Given the description of an element on the screen output the (x, y) to click on. 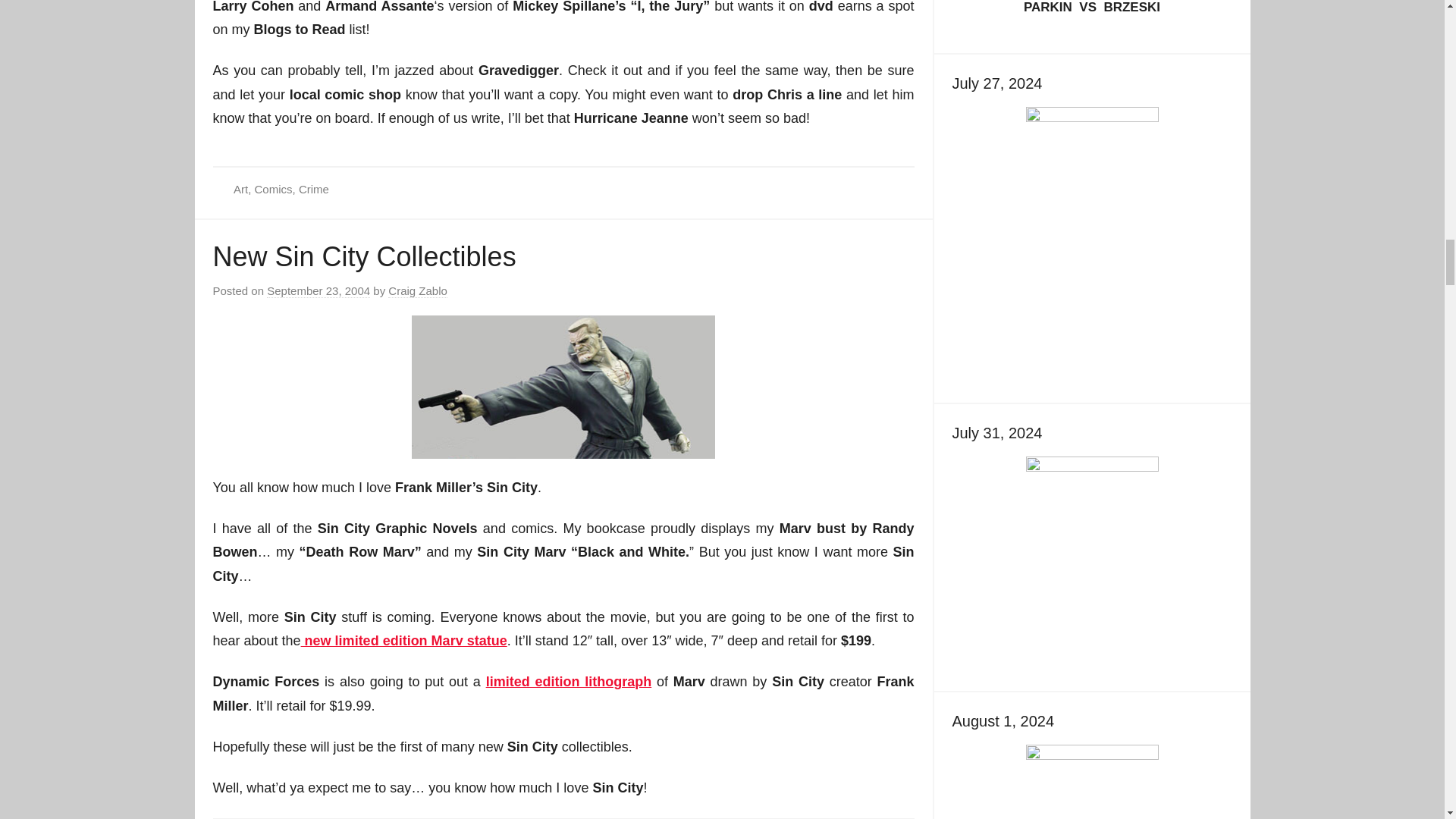
View all posts by Craig Zablo (417, 291)
